Given the description of an element on the screen output the (x, y) to click on. 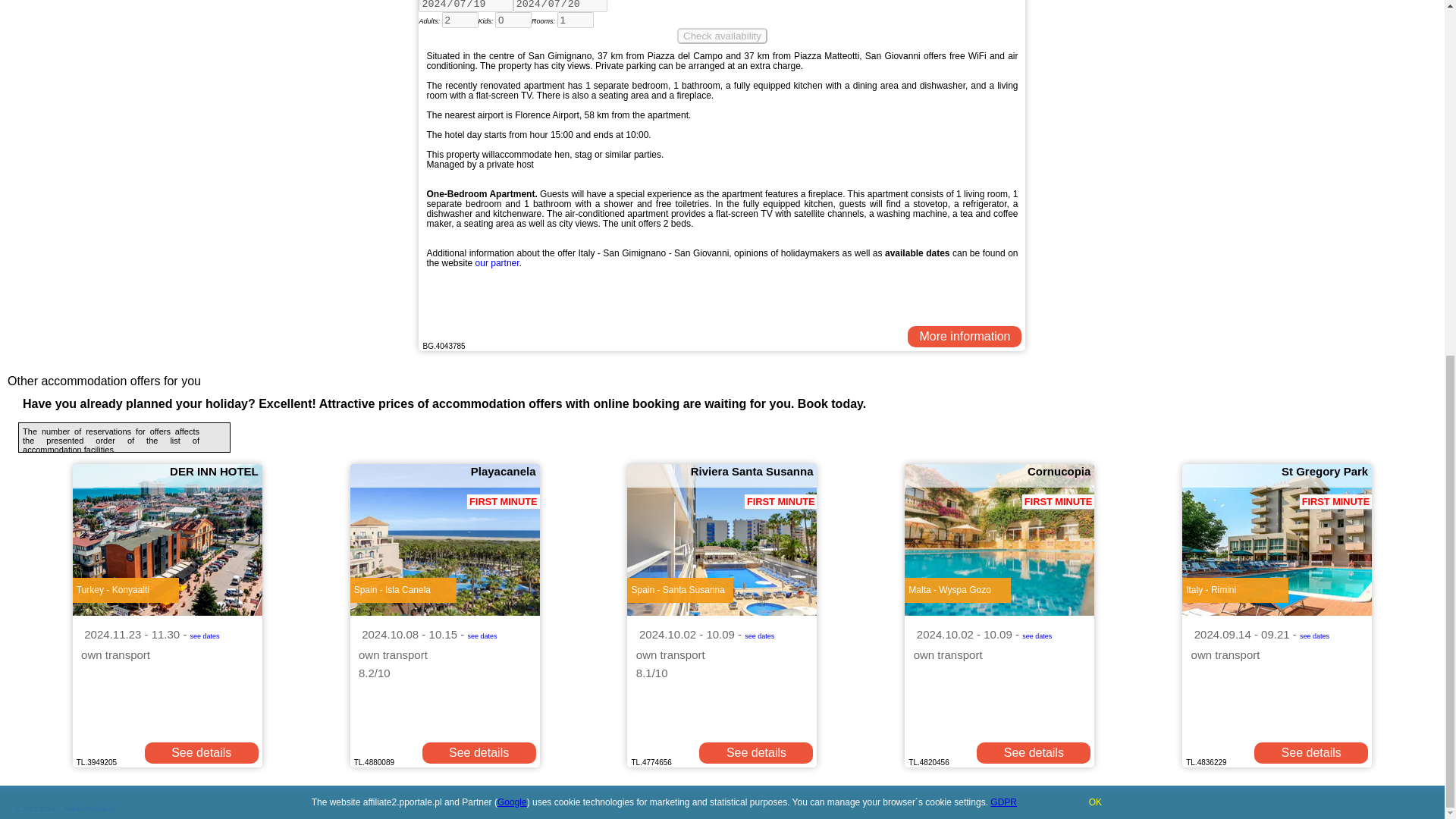
see dates (204, 634)
1 (575, 19)
FIRST MINUTE (721, 539)
See details (201, 752)
see dates (481, 634)
FIRST MINUTE (445, 539)
2 (459, 19)
See details (478, 752)
PolskiePortale.pl (89, 809)
see dates (759, 634)
GDPR (1003, 177)
Google (512, 177)
Holidays - Italy (964, 336)
FIRST MINUTE (1276, 539)
0 (513, 19)
